Given the description of an element on the screen output the (x, y) to click on. 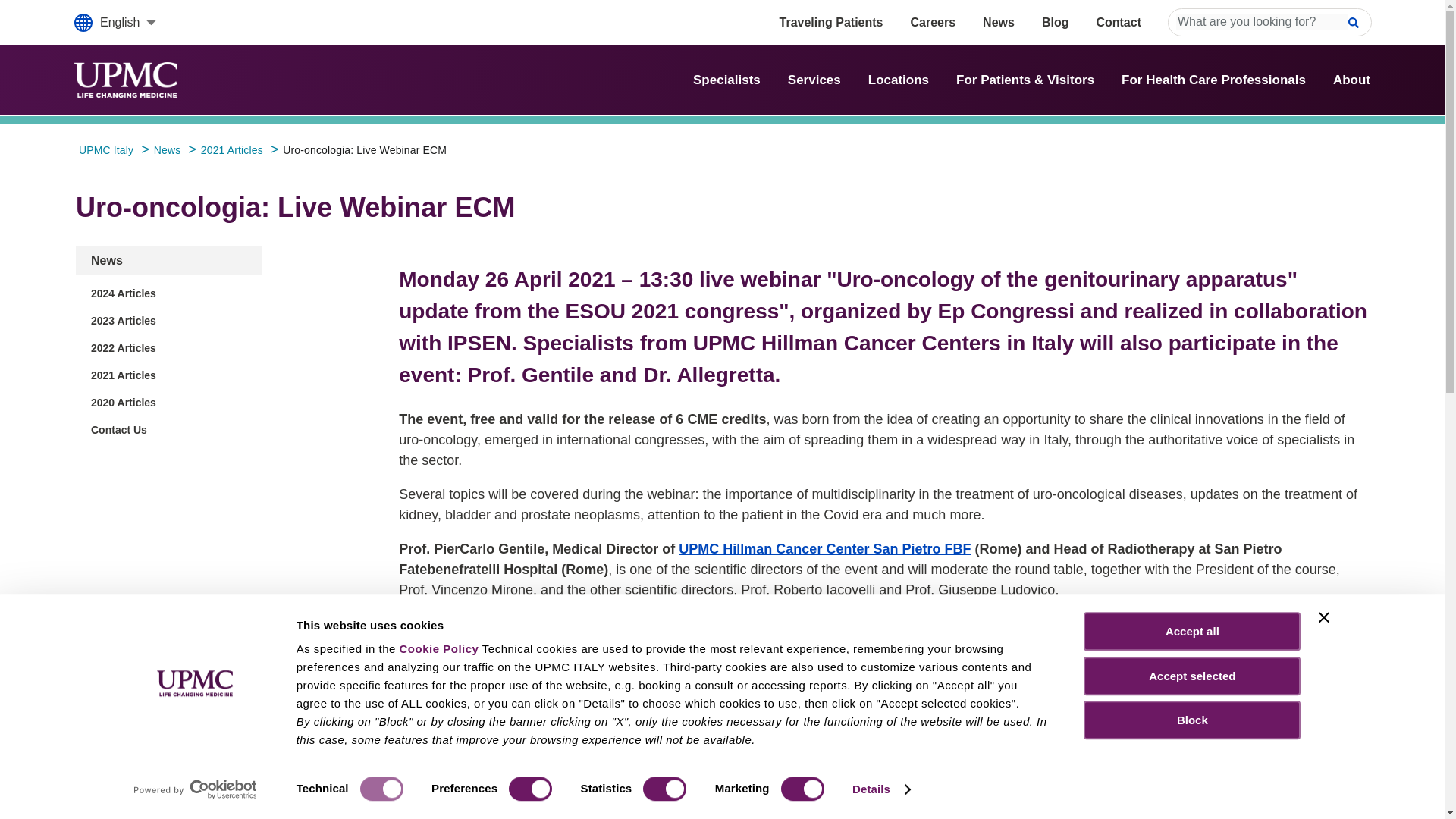
Click here to consult the program and to register. (556, 813)
Learn more about Hillman Cancer Center Villa Maria. (770, 739)
Cookie Policy (438, 648)
Learn more about UPMC Hillman Cancer Center San Pietro FBF. (824, 548)
Details (879, 789)
